Given the description of an element on the screen output the (x, y) to click on. 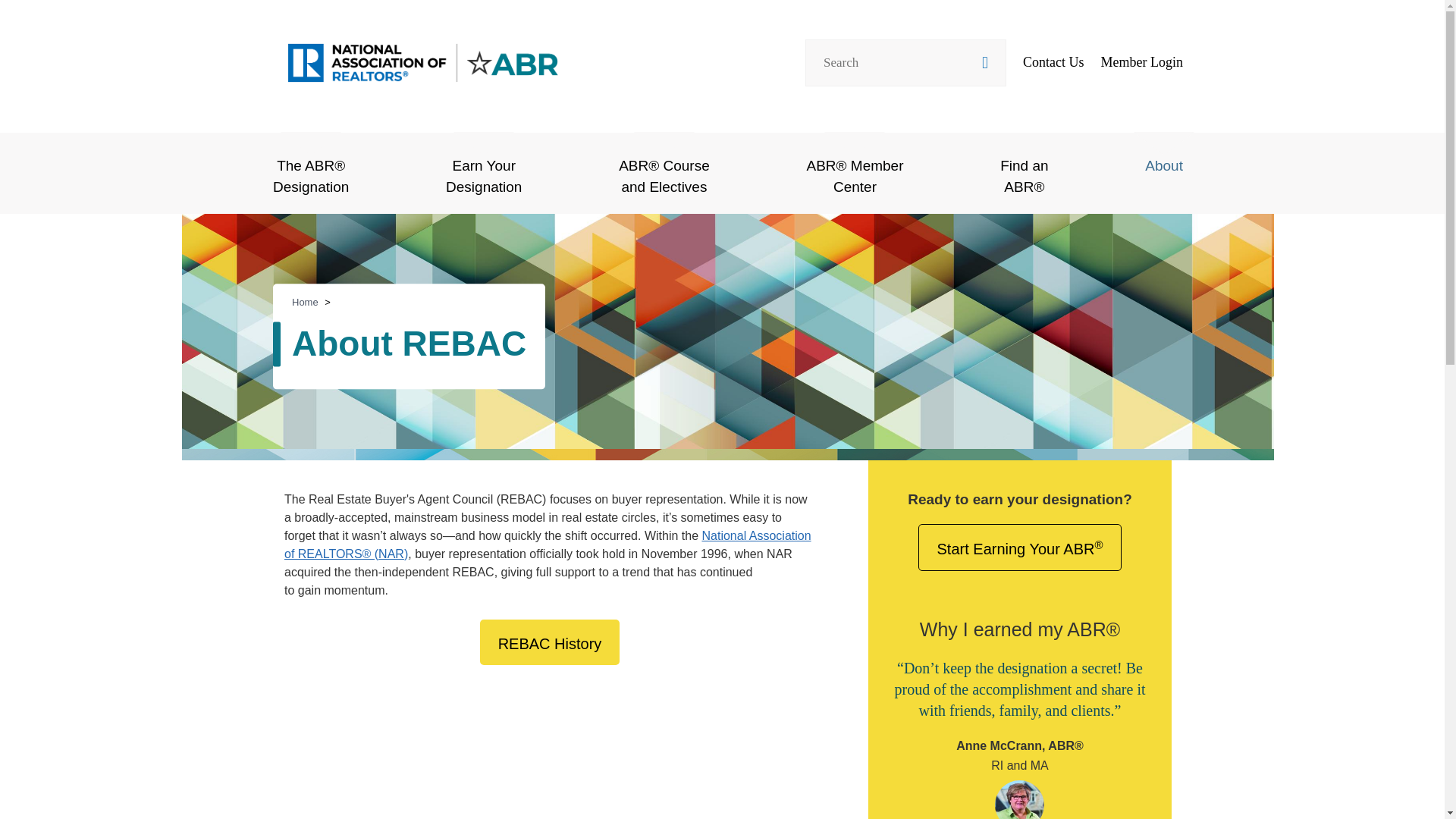
Member Login (1141, 61)
Contact Us (1053, 61)
Enter the terms you wish to search for. (483, 172)
